Given the description of an element on the screen output the (x, y) to click on. 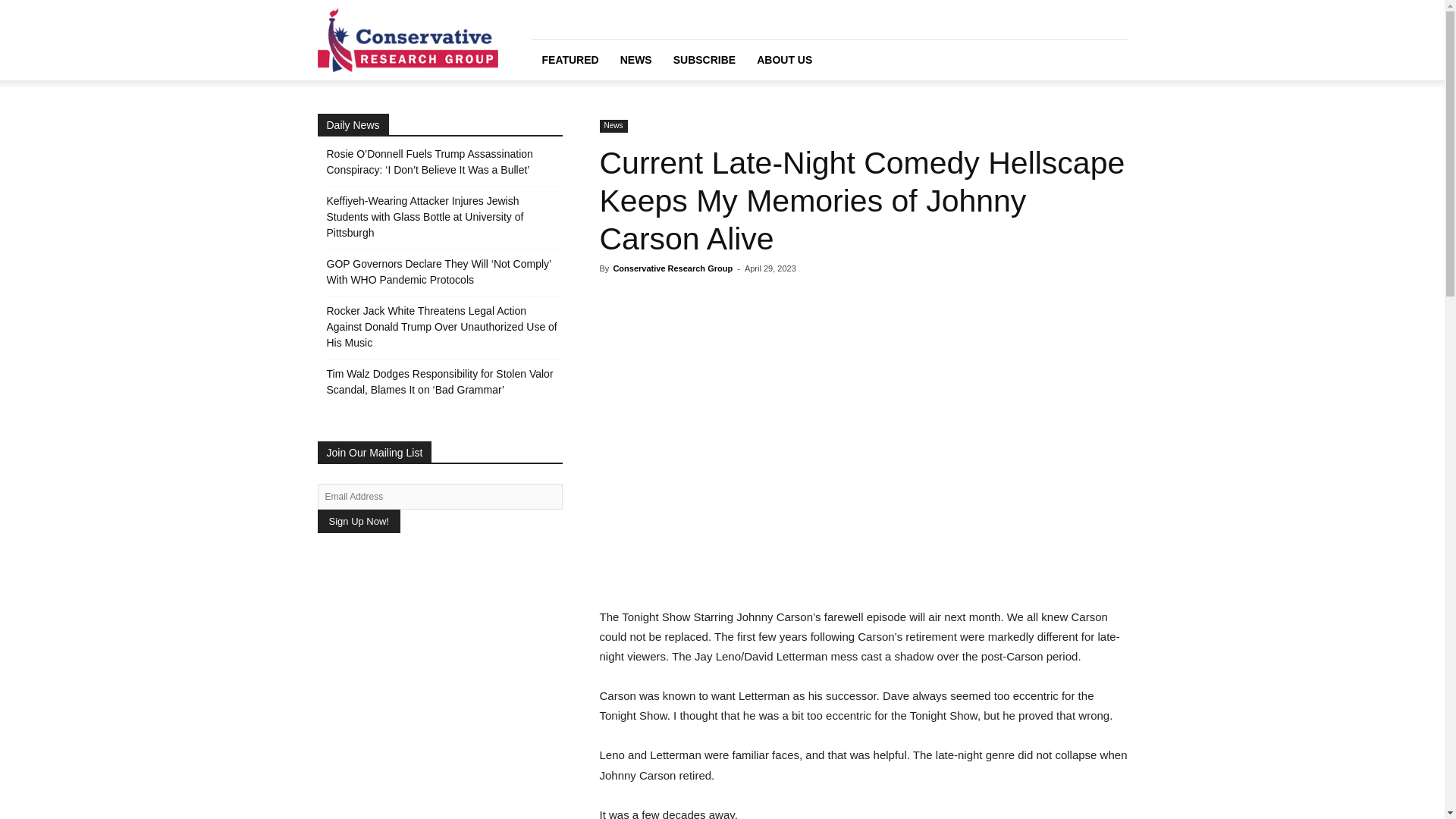
Sign Up Now! (357, 521)
Conservative Research Group (672, 267)
FEATURED (569, 60)
News (612, 125)
NEWS (636, 60)
SUBSCRIBE (703, 60)
ABOUT US (783, 60)
